Given the description of an element on the screen output the (x, y) to click on. 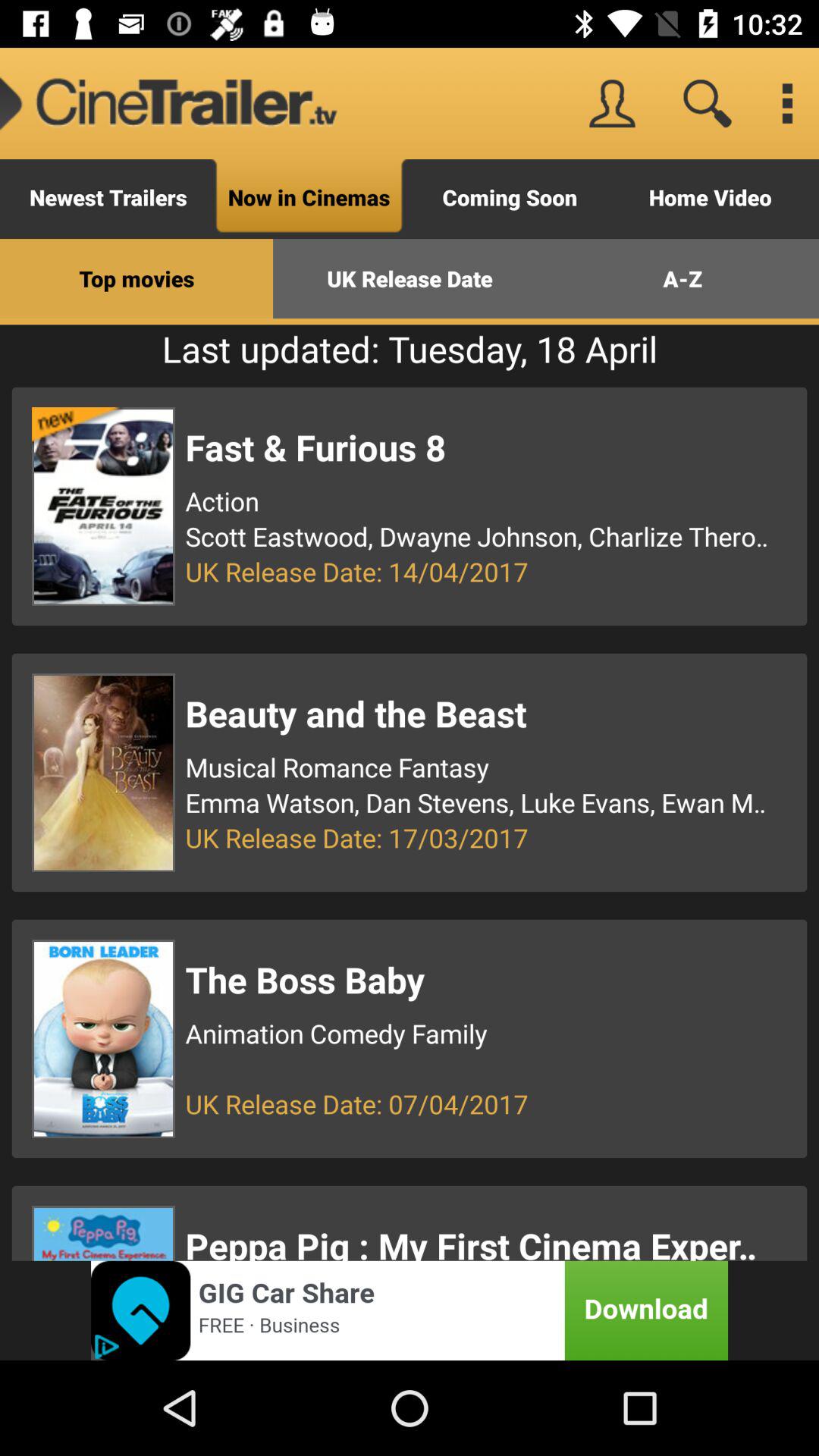
view menu (787, 103)
